Given the description of an element on the screen output the (x, y) to click on. 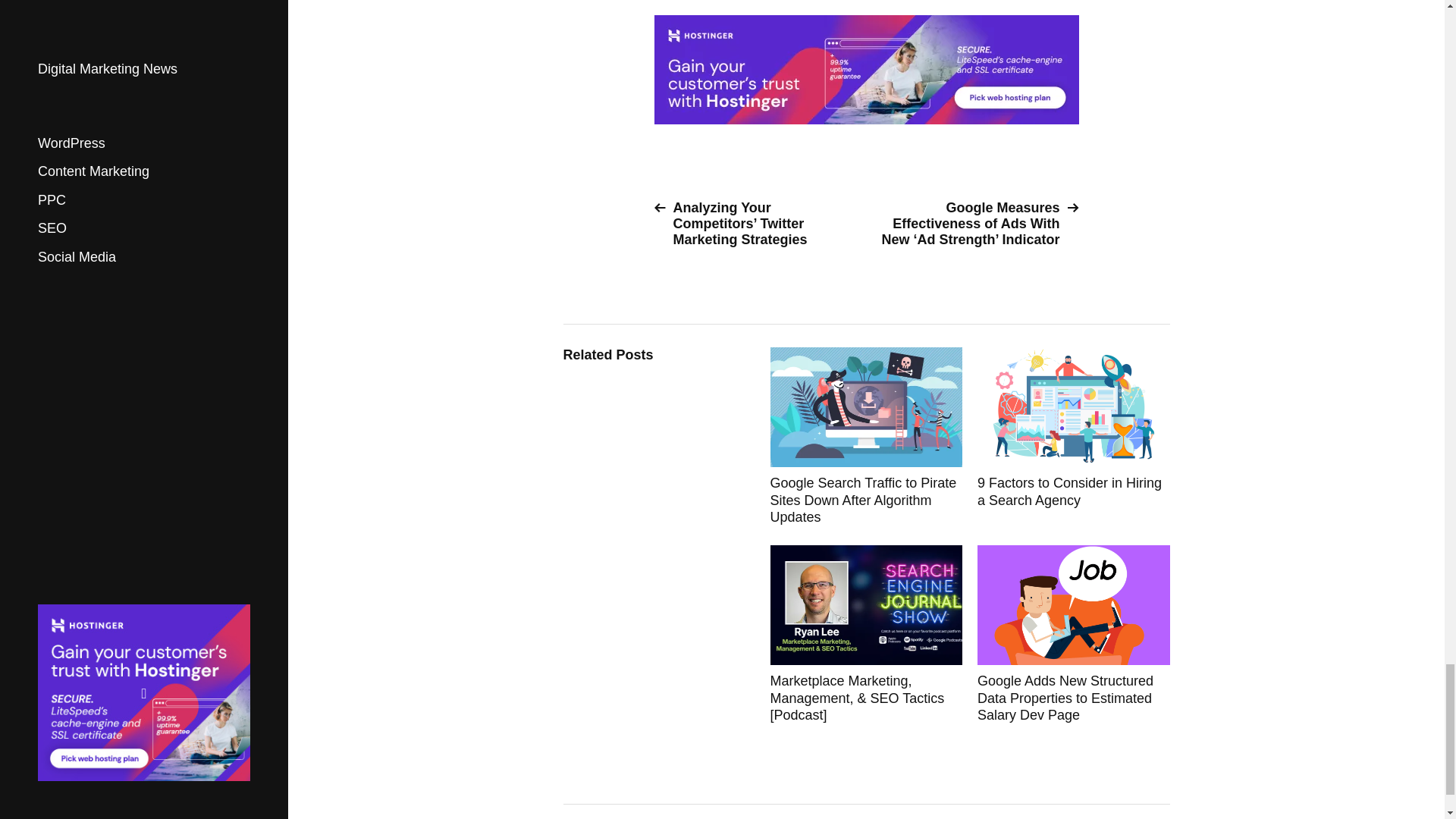
9 Factors to Consider in Hiring a Search Agency (1073, 436)
